Given the description of an element on the screen output the (x, y) to click on. 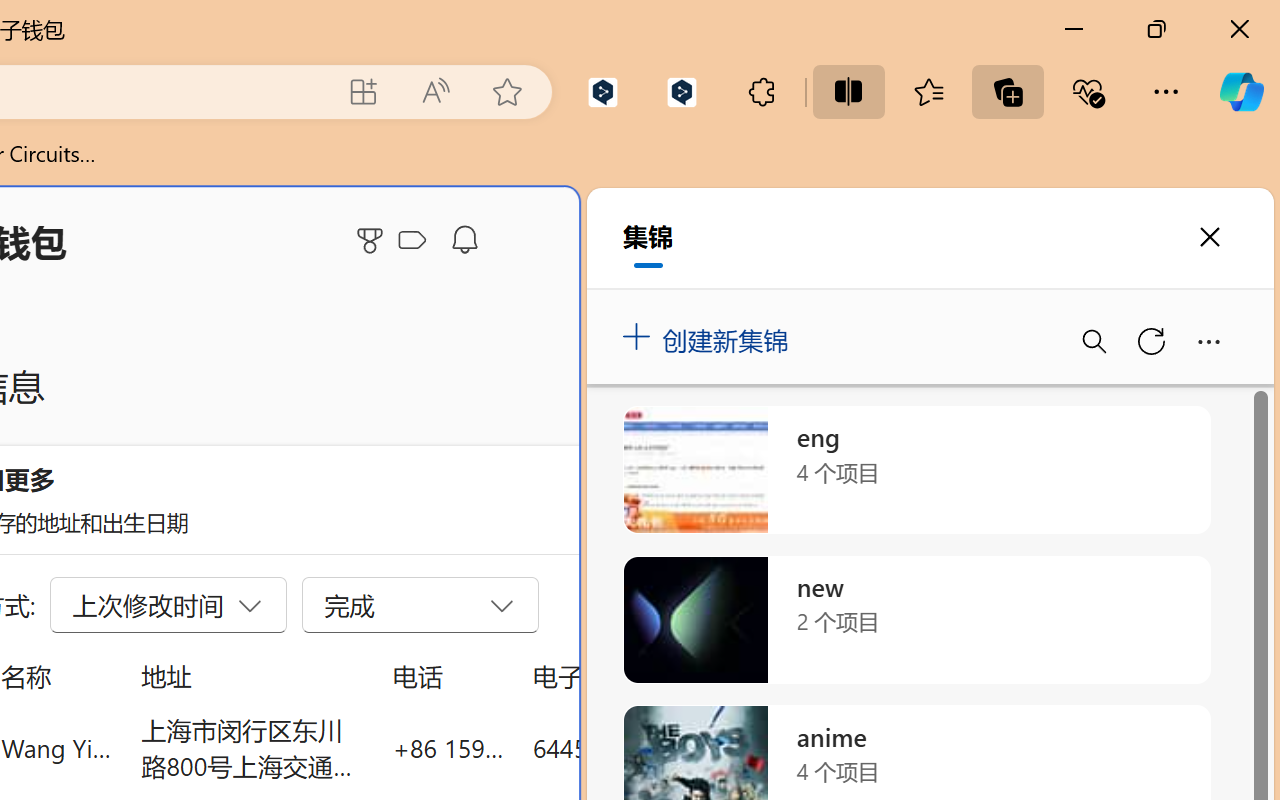
644553698@qq.com (644, 747)
Microsoft Rewards (373, 240)
Copilot (Ctrl+Shift+.) (1241, 91)
